Given the description of an element on the screen output the (x, y) to click on. 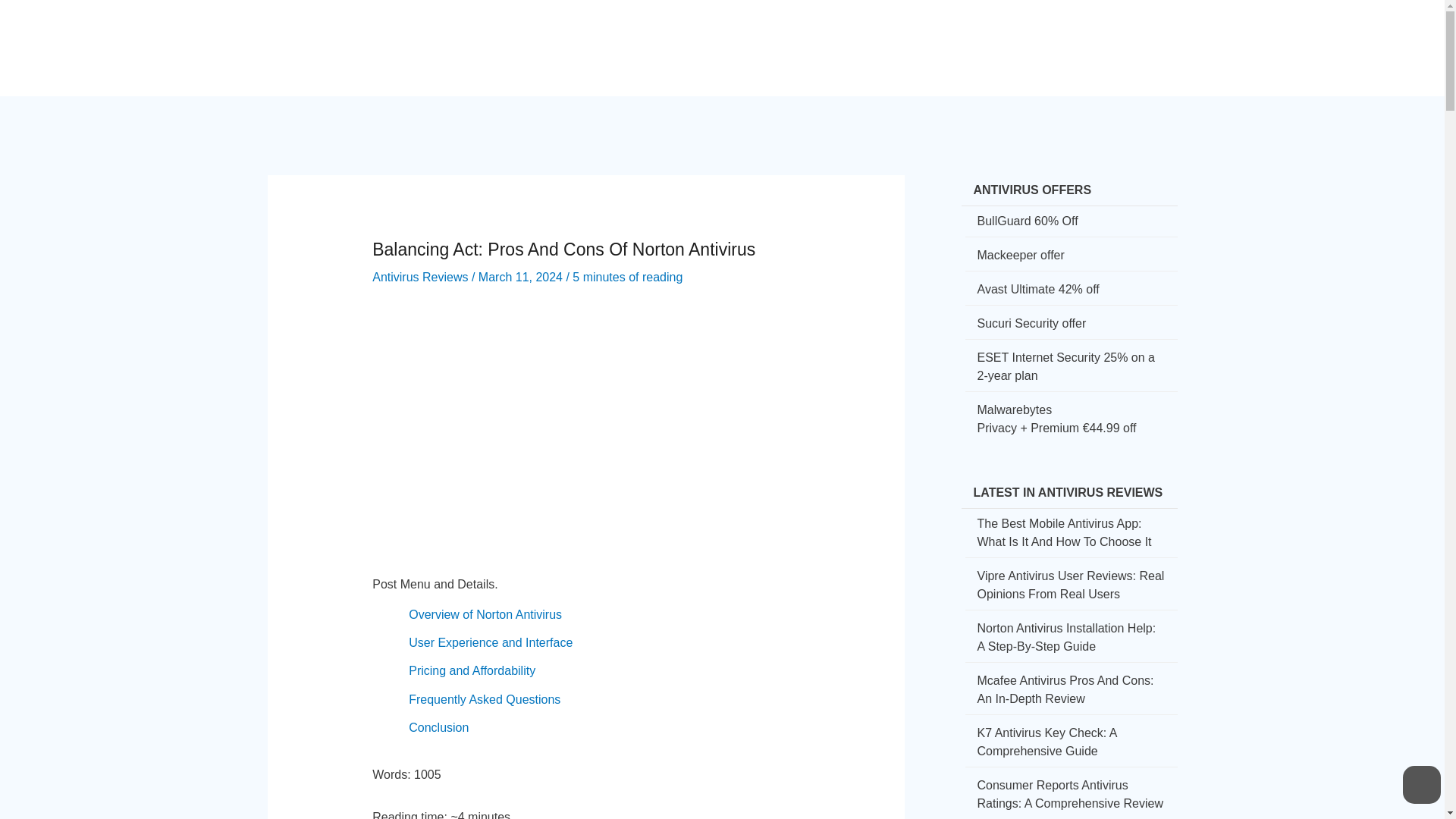
Pricing and Affordability (472, 670)
Overview of Norton Antivirus (485, 614)
How-To (802, 35)
Cyber Security (713, 35)
User Experience and Interface (490, 642)
Misc (1122, 35)
Frequently Asked Questions (484, 698)
Conclusion (438, 727)
10 Best (1064, 35)
Finances (929, 35)
Antivirus Reviews (419, 277)
Gaming (999, 35)
Social (863, 35)
